Given the description of an element on the screen output the (x, y) to click on. 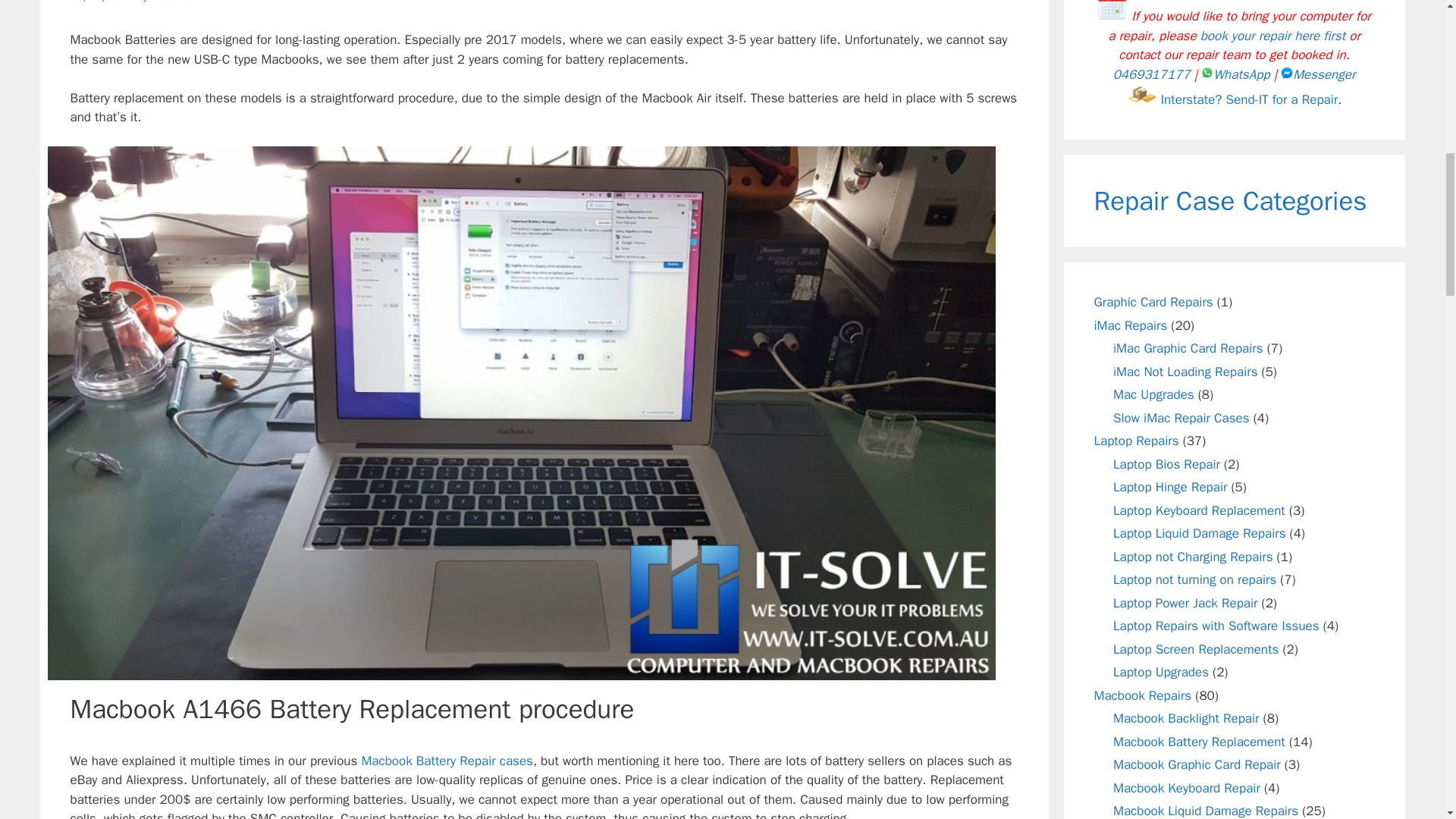
View all posts by IT-Solve (170, 1)
